Given the description of an element on the screen output the (x, y) to click on. 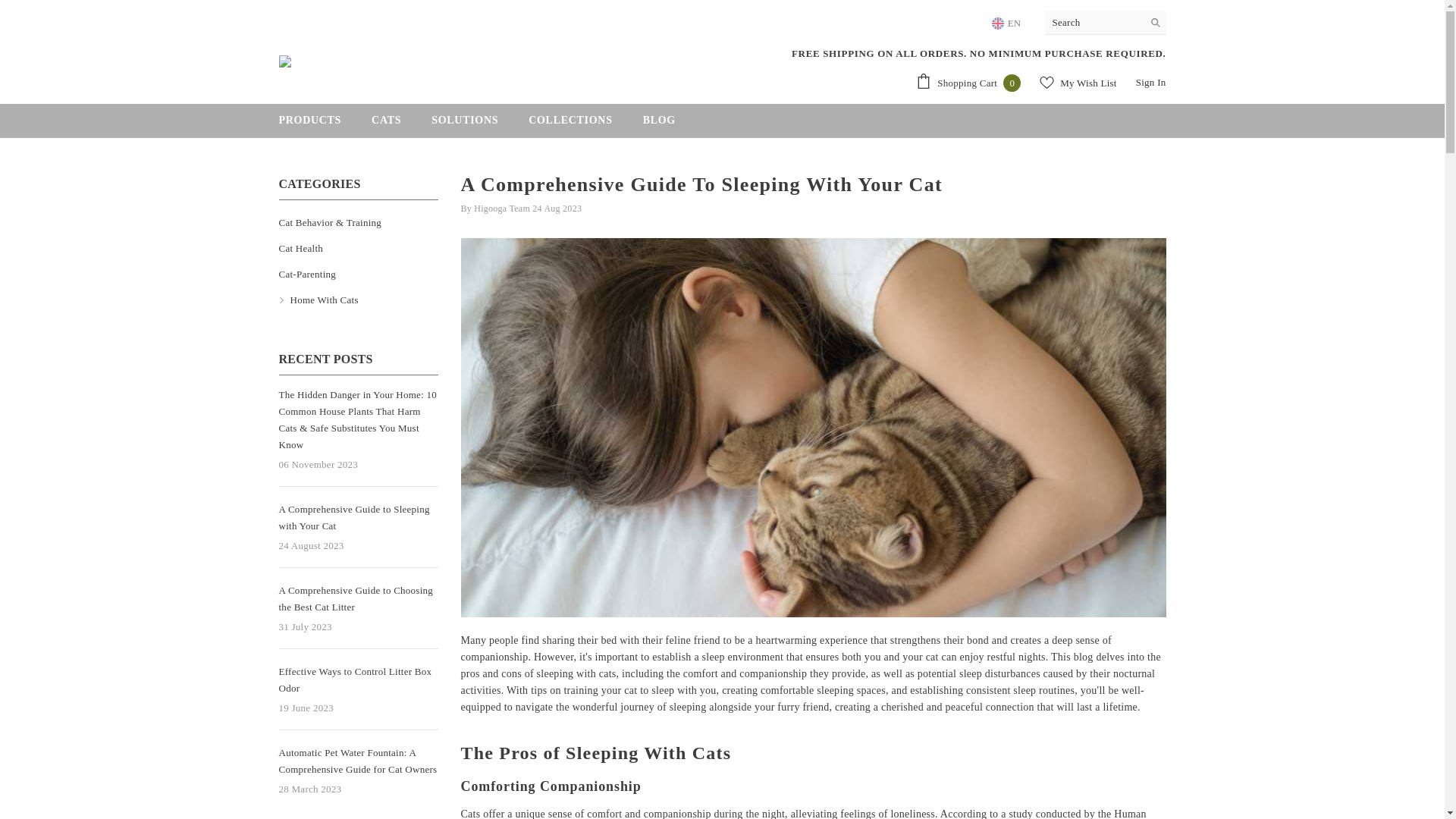
Sign In (1150, 81)
COLLECTIONS (570, 125)
PRODUCTS (309, 127)
SOLUTIONS (967, 82)
My Wish List (464, 125)
EN (1077, 82)
CATS (1008, 22)
